Given the description of an element on the screen output the (x, y) to click on. 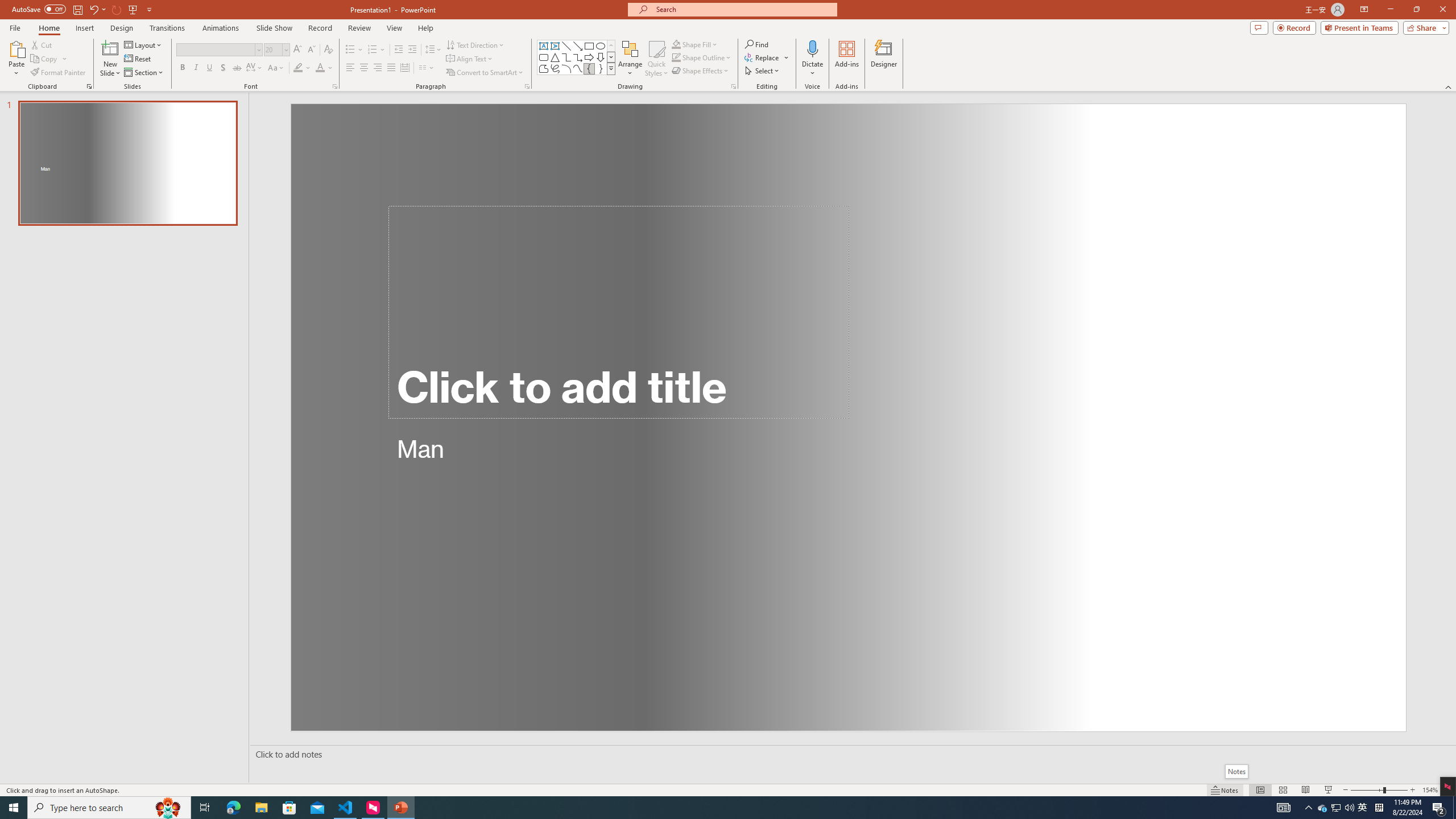
Font (215, 49)
Align Left (349, 67)
Designer (883, 58)
Decrease Font Size (310, 49)
Shape Outline Blue, Accent 1 (675, 56)
Character Spacing (254, 67)
Reset (138, 58)
Quick Styles (656, 58)
Oval (600, 45)
